Given the description of an element on the screen output the (x, y) to click on. 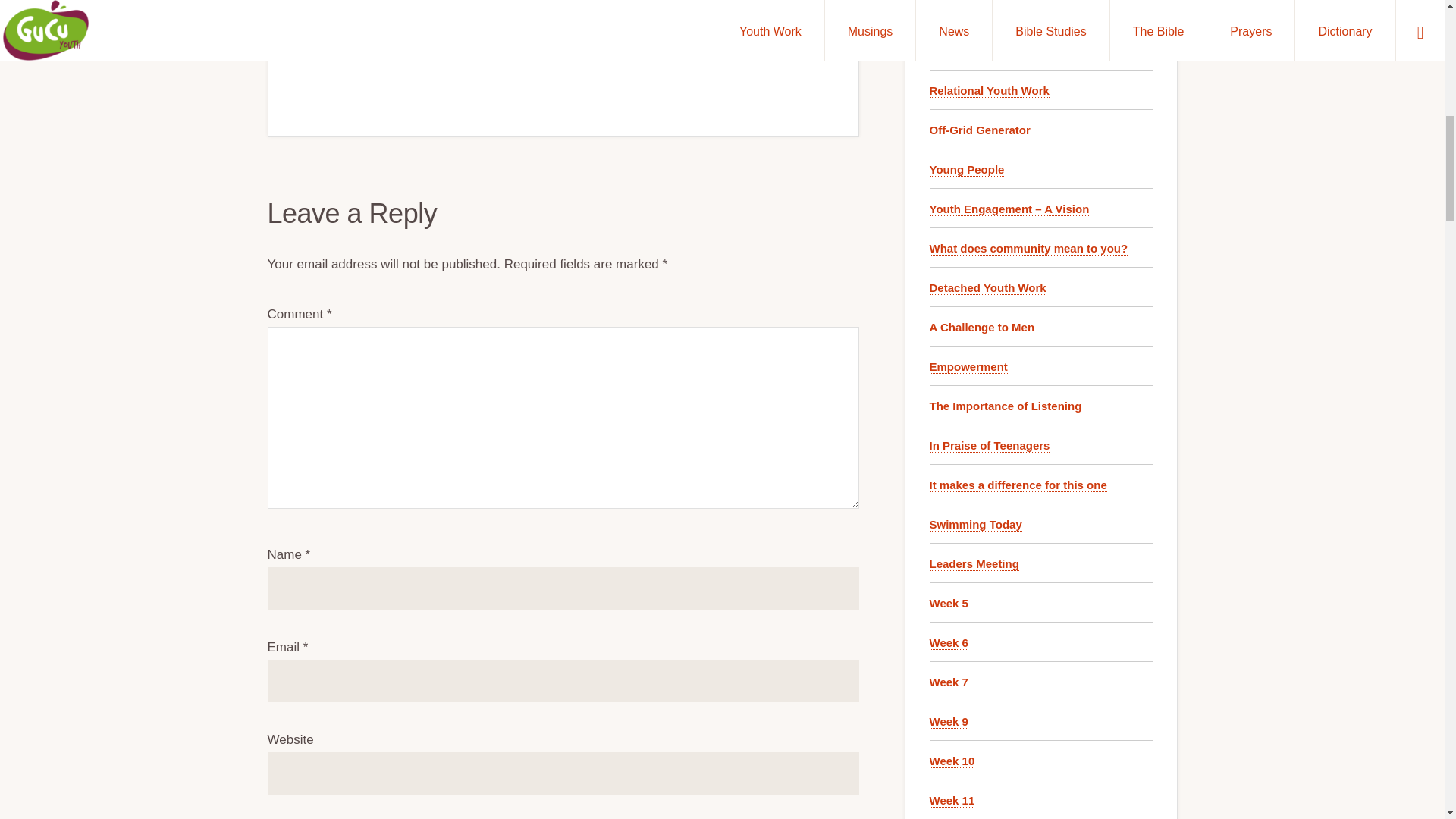
Detached Youth Work (988, 287)
Relational Youth Work (989, 90)
Empowerment (968, 366)
Off-Grid Generator (980, 130)
What does community mean to you? (1029, 248)
Young People (967, 169)
Practical Youth Work (986, 51)
Rude vs Mean vs Bullying (1000, 11)
A Challenge to Men (982, 327)
